Given the description of an element on the screen output the (x, y) to click on. 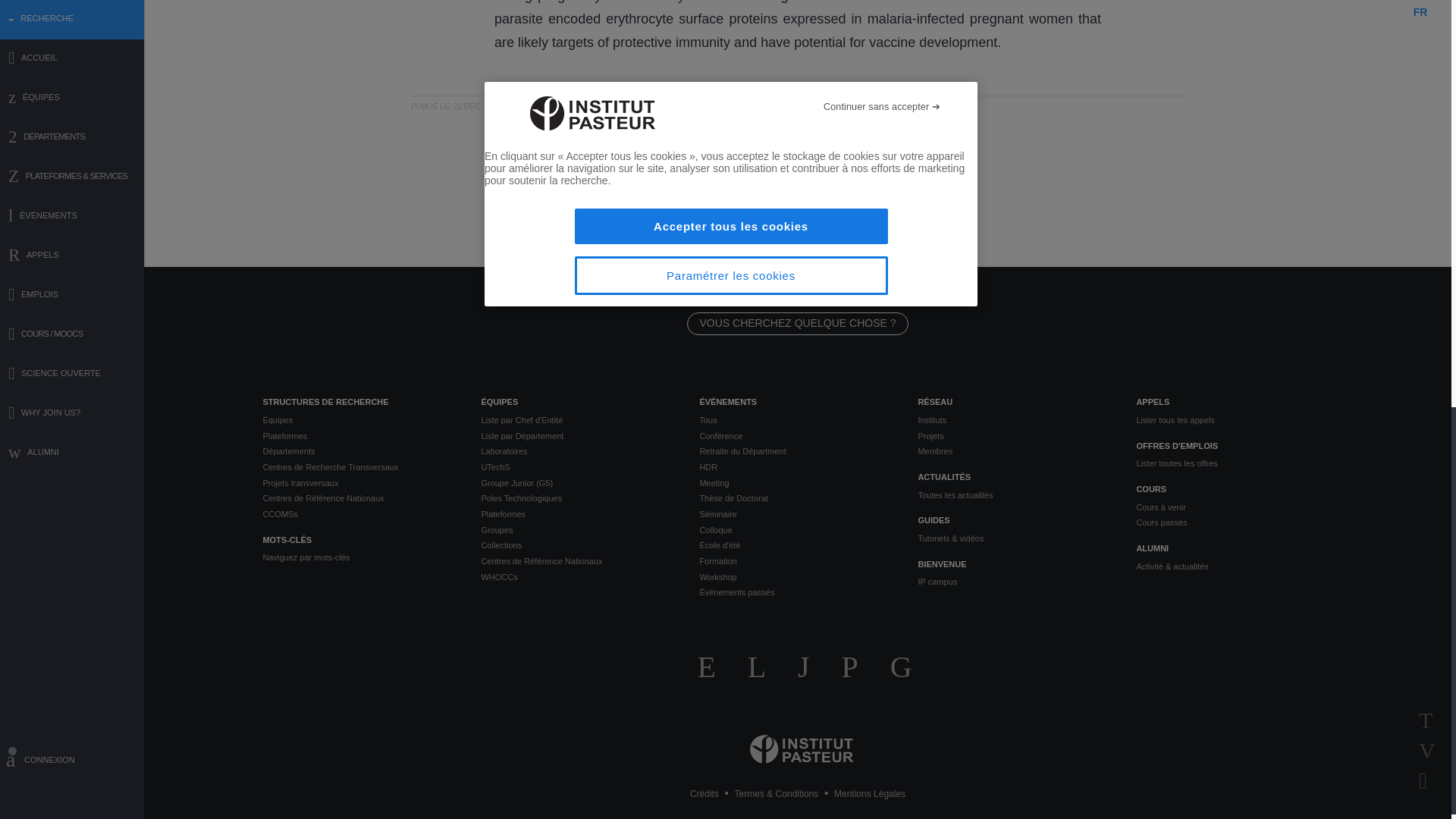
Plateformes (360, 436)
